Given the description of an element on the screen output the (x, y) to click on. 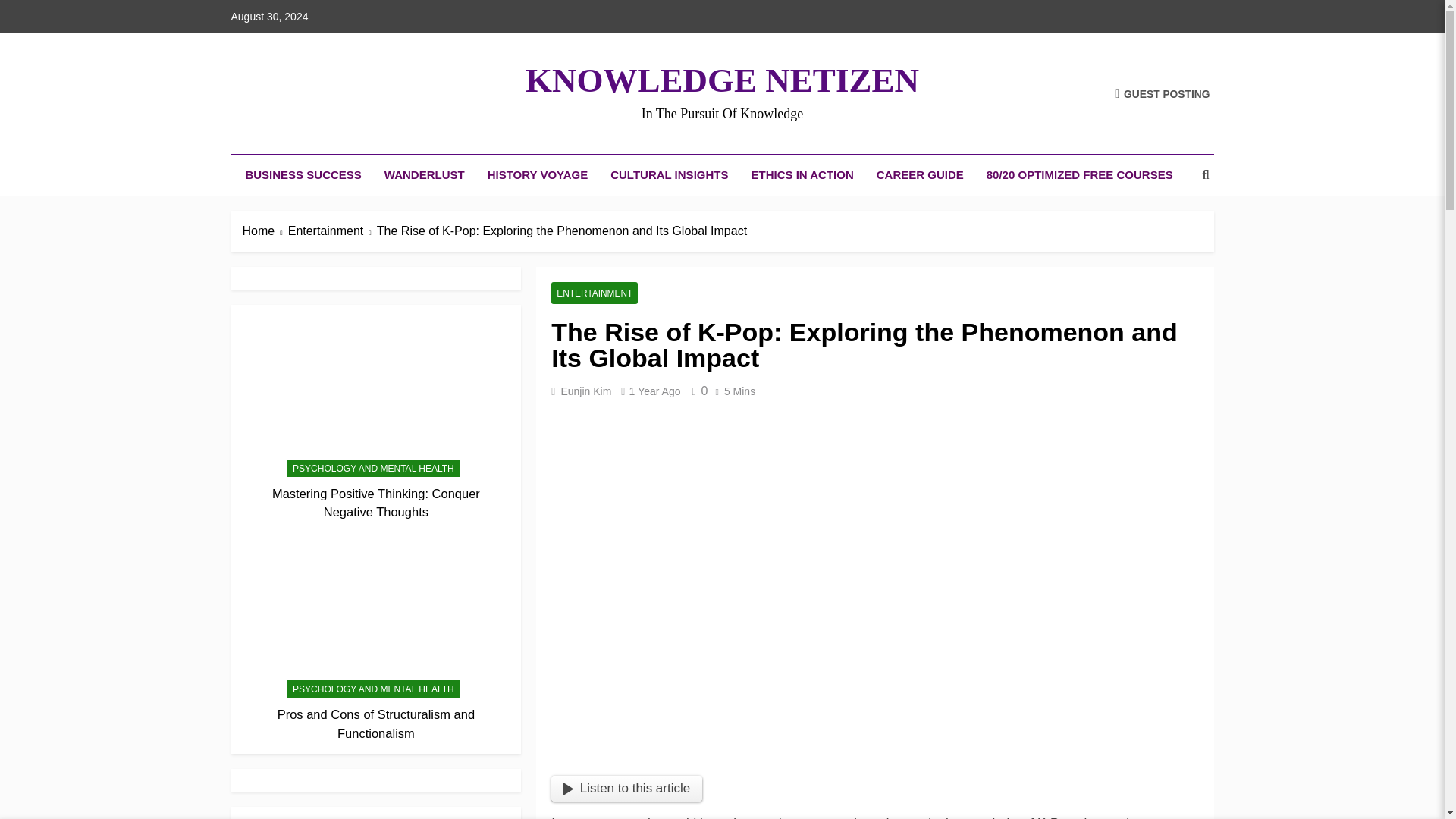
ETHICS IN ACTION (801, 174)
Pros and Cons of Structuralism and Functionalism (376, 723)
1 Year Ago (653, 390)
Mastering Positive Thinking: Conquer Negative Thoughts (376, 502)
Home (265, 230)
HISTORY VOYAGE (537, 174)
ENTERTAINMENT (594, 292)
CAREER GUIDE (919, 174)
PSYCHOLOGY AND MENTAL HEALTH (373, 467)
GUEST POSTING (1162, 92)
